Given the description of an element on the screen output the (x, y) to click on. 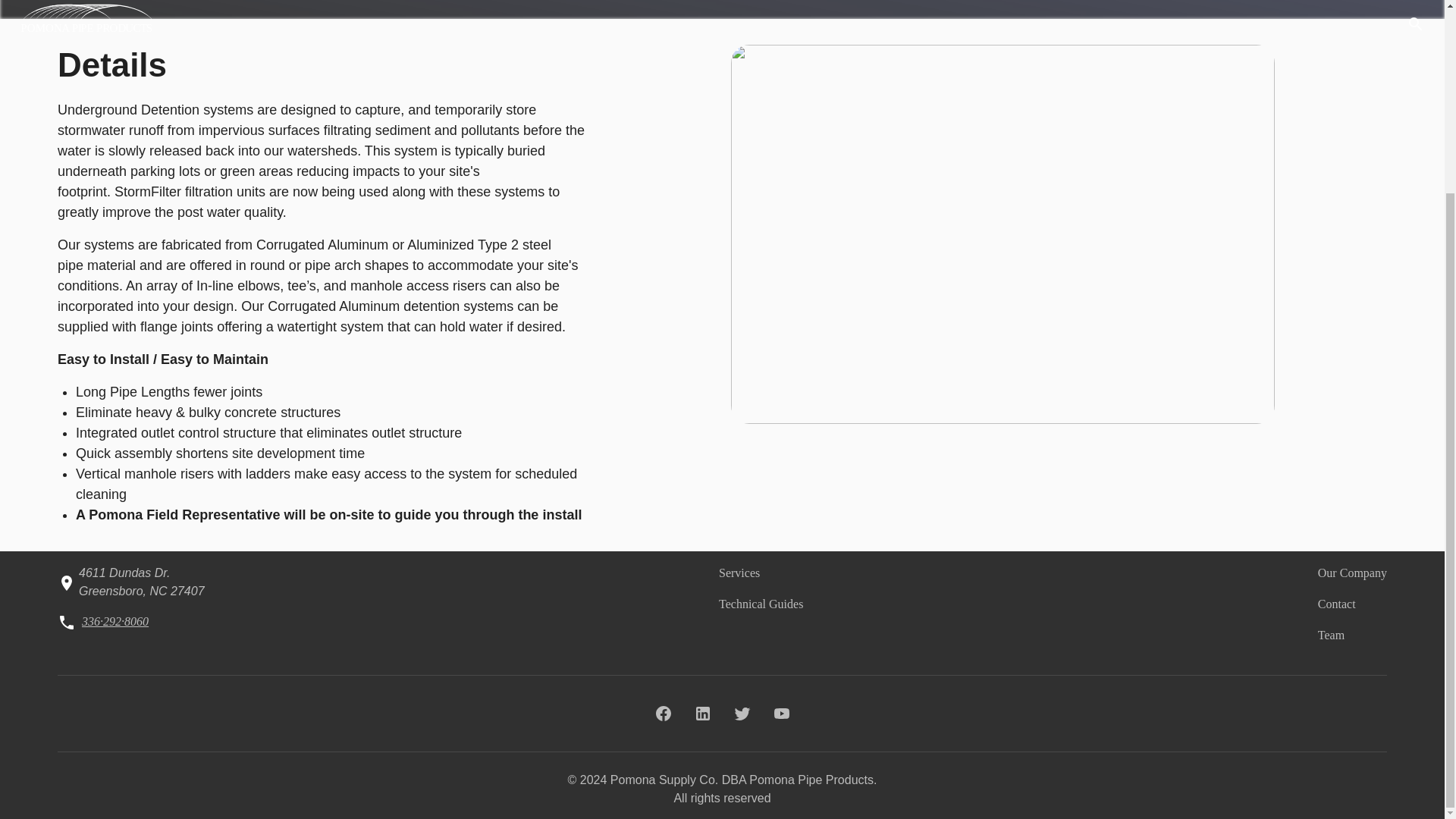
Services (739, 572)
Our Company (1352, 572)
Technical Guides (761, 603)
Contact (1336, 603)
Team (1330, 634)
